Given the description of an element on the screen output the (x, y) to click on. 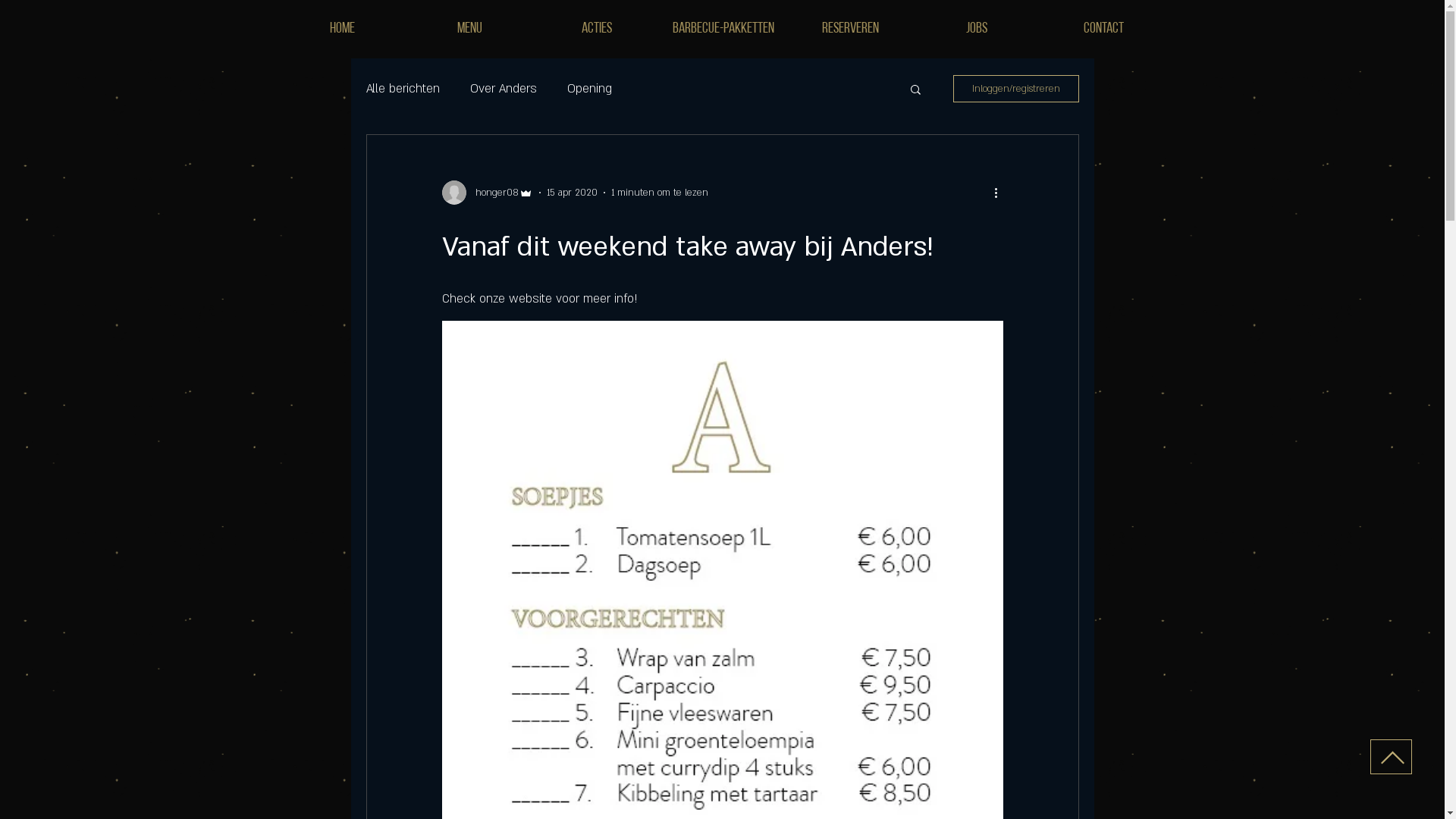
Over Anders Element type: text (503, 88)
Acties Element type: text (596, 28)
Reserveren Element type: text (850, 28)
Barbecue-pakketten Element type: text (722, 28)
Home Element type: text (342, 28)
Jobs Element type: text (976, 28)
Contact Element type: text (1103, 28)
Opening Element type: text (589, 88)
Inloggen/registreren Element type: text (1015, 88)
Menu Element type: text (469, 28)
Alle berichten Element type: text (402, 88)
